Given the description of an element on the screen output the (x, y) to click on. 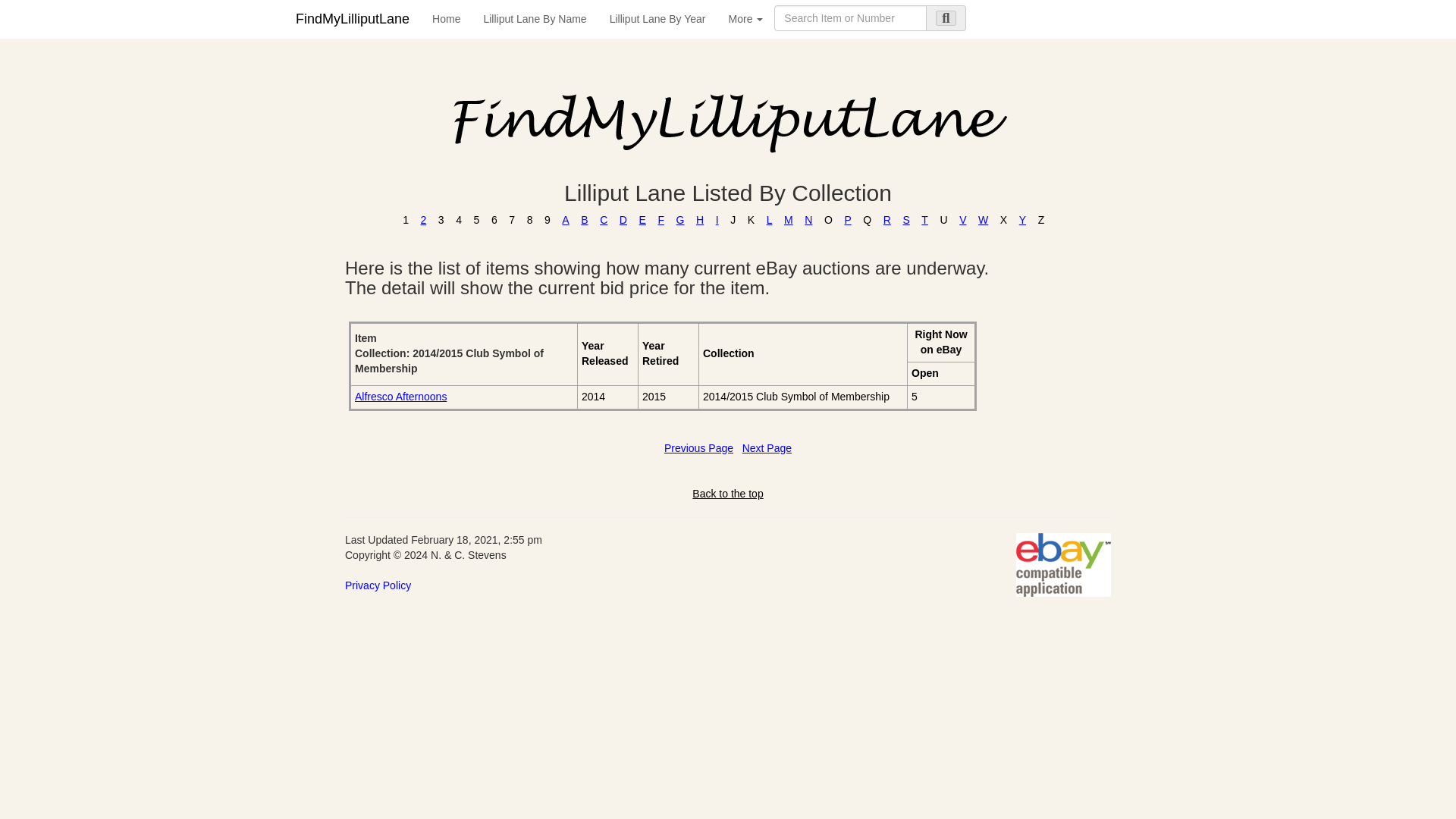
FindMyLilliputLane (351, 18)
More (745, 18)
Lilliput Lane By Name (533, 18)
Lilliput Lane By Year (657, 18)
Back to the home page (445, 18)
Your Item or Number must be at least 3 characters long (850, 17)
Home (445, 18)
List of all Lilliput Lane by Name (533, 18)
List of all Lilliput Lane by Year (657, 18)
